Given the description of an element on the screen output the (x, y) to click on. 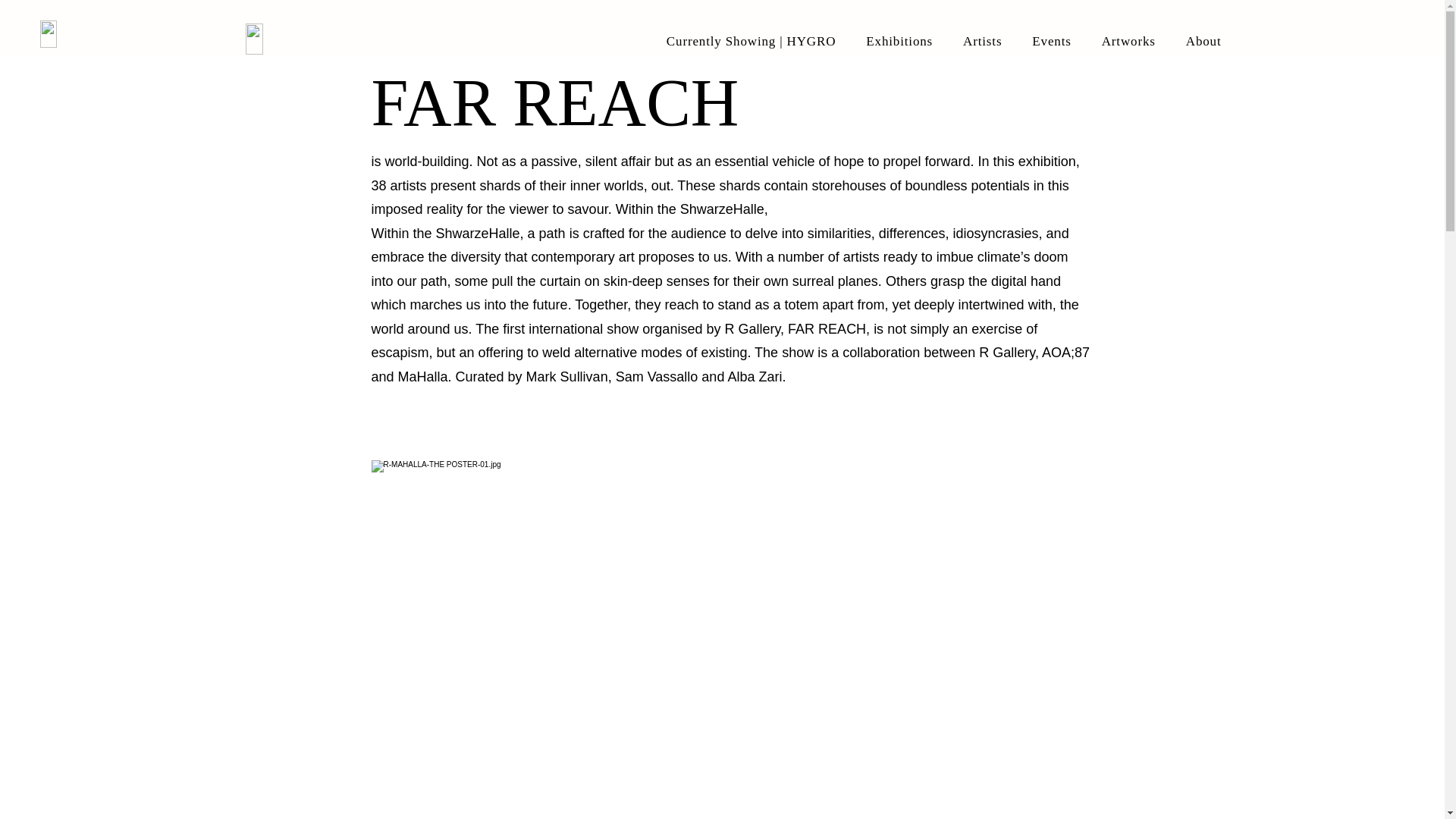
Events (1051, 40)
About (1203, 40)
Artworks (1129, 40)
Exhibitions (899, 40)
Artists (982, 40)
